Given the description of an element on the screen output the (x, y) to click on. 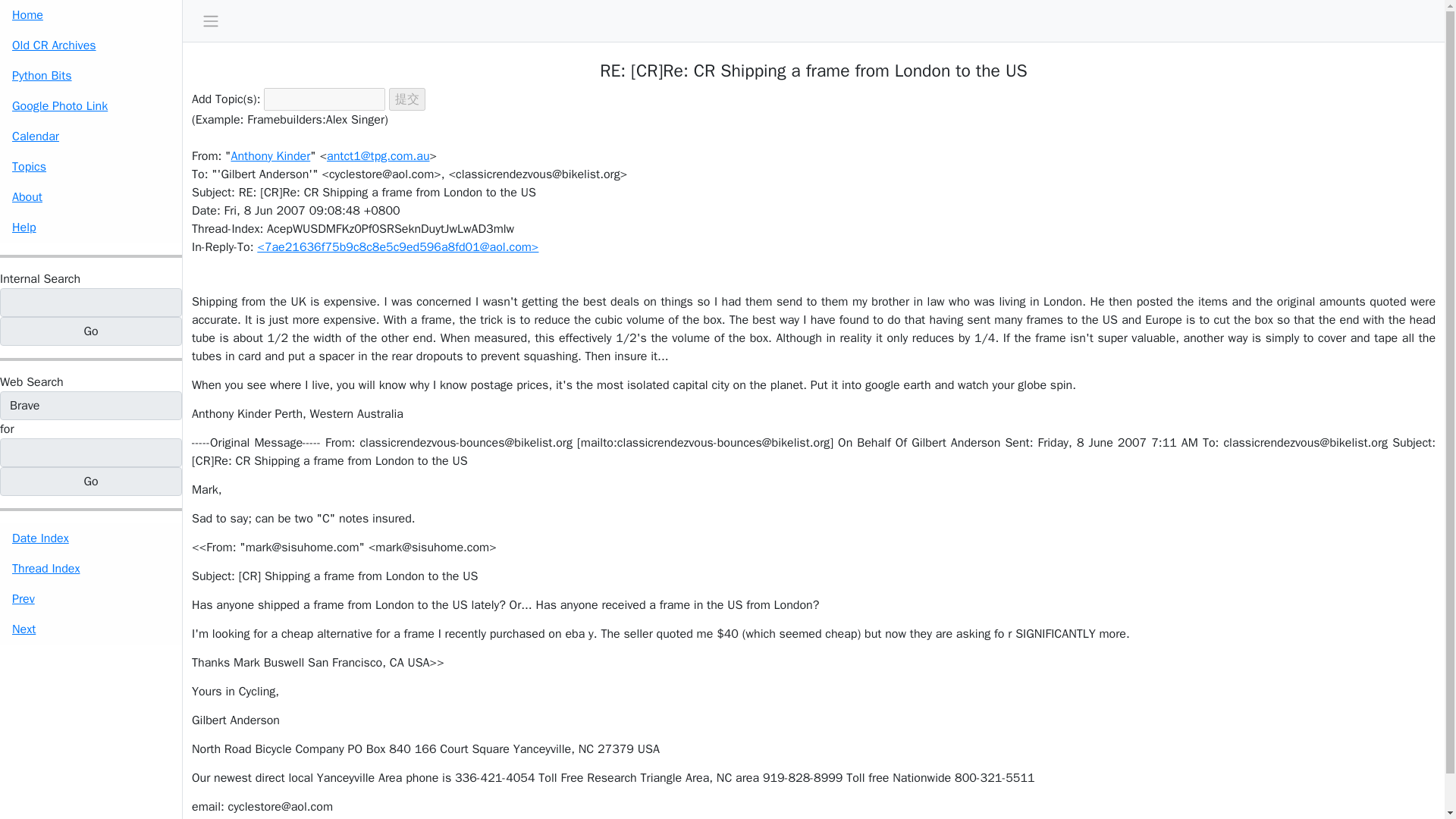
Go (91, 481)
Next (91, 629)
About (91, 196)
Google Photo Link (91, 105)
Help (91, 227)
Enter a word or phrase to search the archive. (40, 279)
Python Bits (91, 75)
Select your preferred search engine and enter a search term. (32, 382)
Go (91, 330)
Date Index (91, 538)
